Given the description of an element on the screen output the (x, y) to click on. 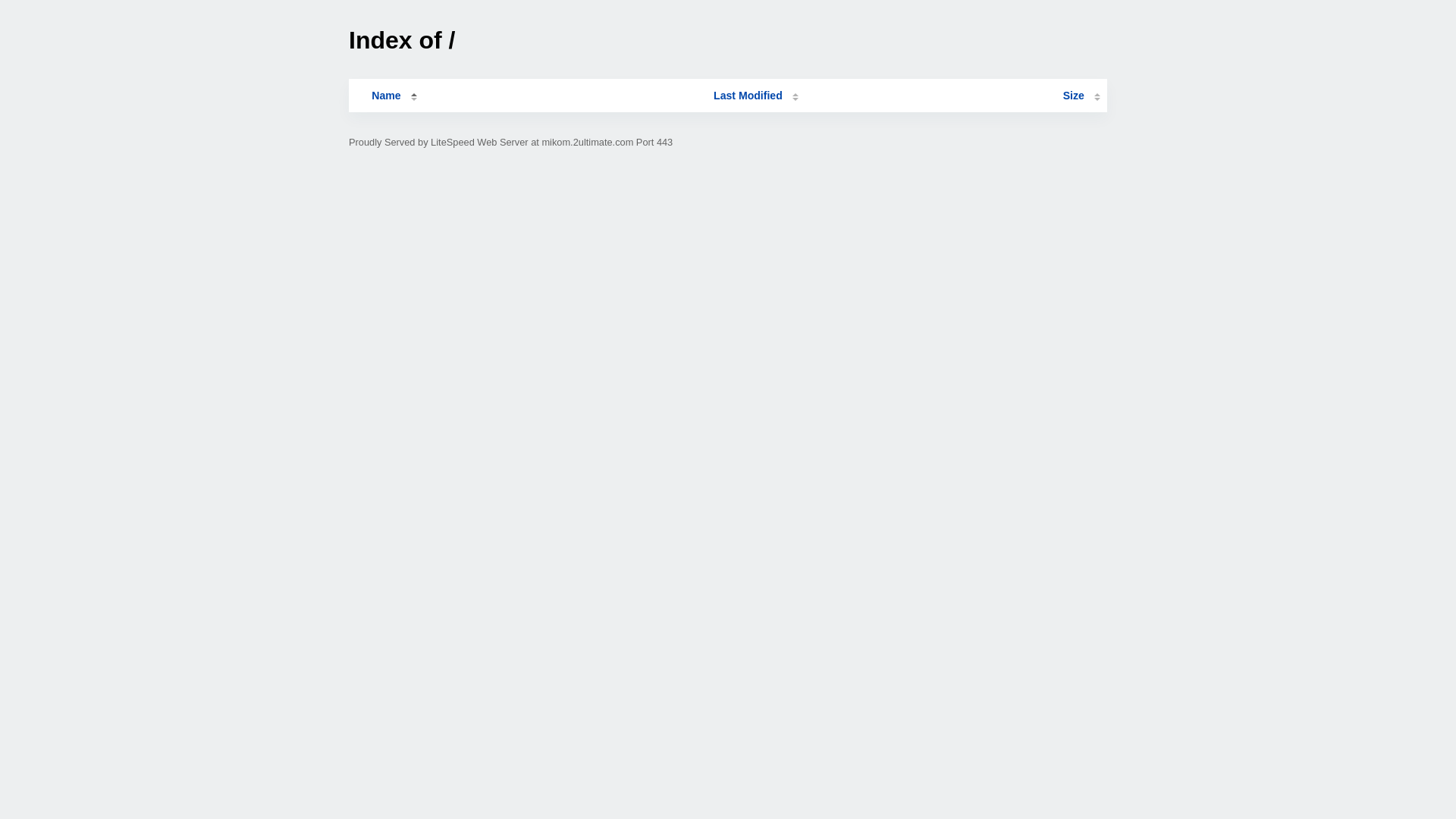
Name Element type: text (385, 95)
Last Modified Element type: text (755, 95)
Size Element type: text (1081, 95)
